Given the description of an element on the screen output the (x, y) to click on. 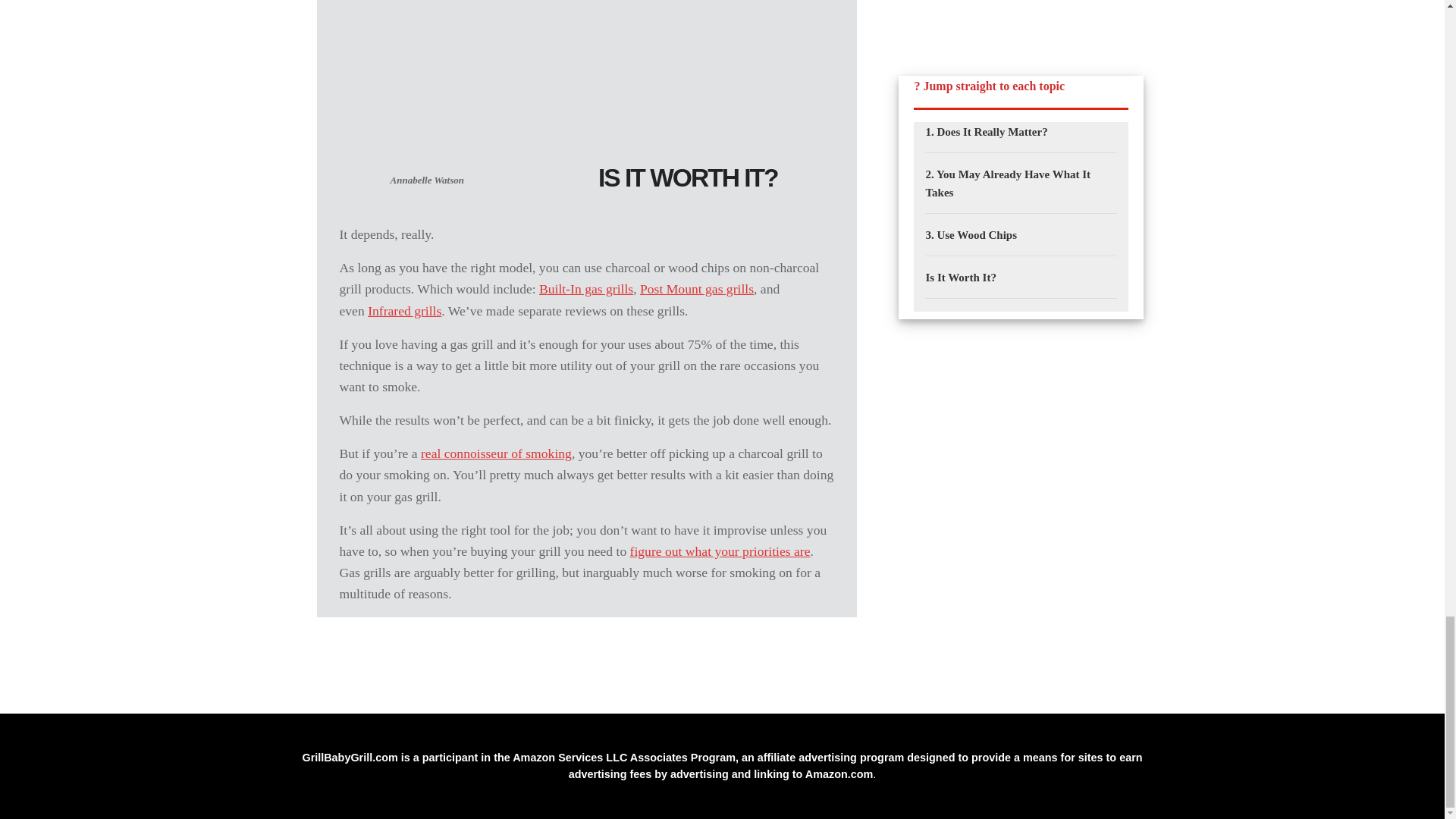
Infrared grills (404, 310)
real connoisseur of smoking (496, 453)
figure out what your priorities are (720, 550)
Built-In gas grills (585, 288)
Annabelle (427, 86)
Post Mount gas grills (697, 288)
